Given the description of an element on the screen output the (x, y) to click on. 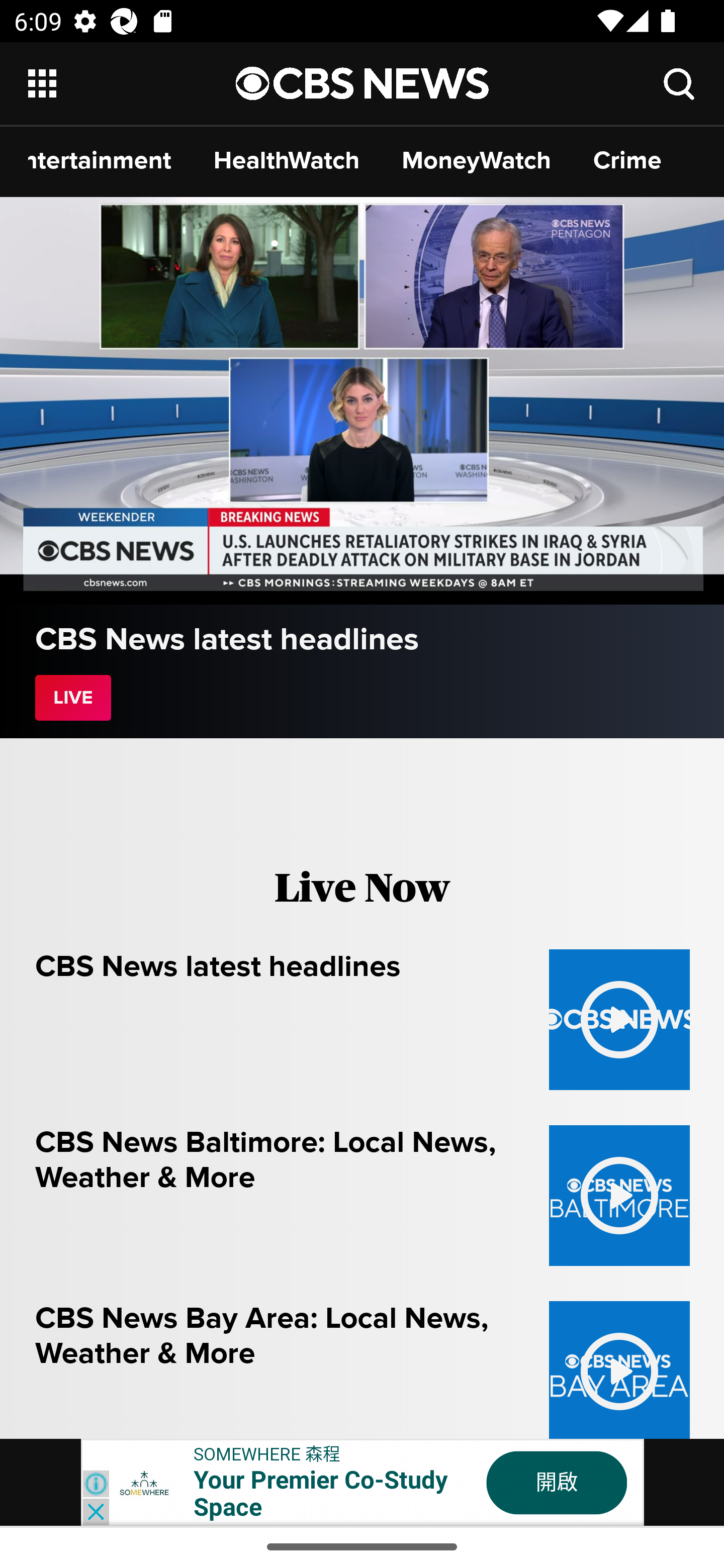
search (679, 82)
Go to CBS News National home page (362, 82)
Open the site navigation (132, 83)
Entertainment (100, 159)
HealthWatch (286, 159)
MoneyWatch (476, 159)
Crime (627, 159)
Media Player (362, 401)
SOMEWHERE 森程 (267, 1453)
開啟 (556, 1482)
